Given the description of an element on the screen output the (x, y) to click on. 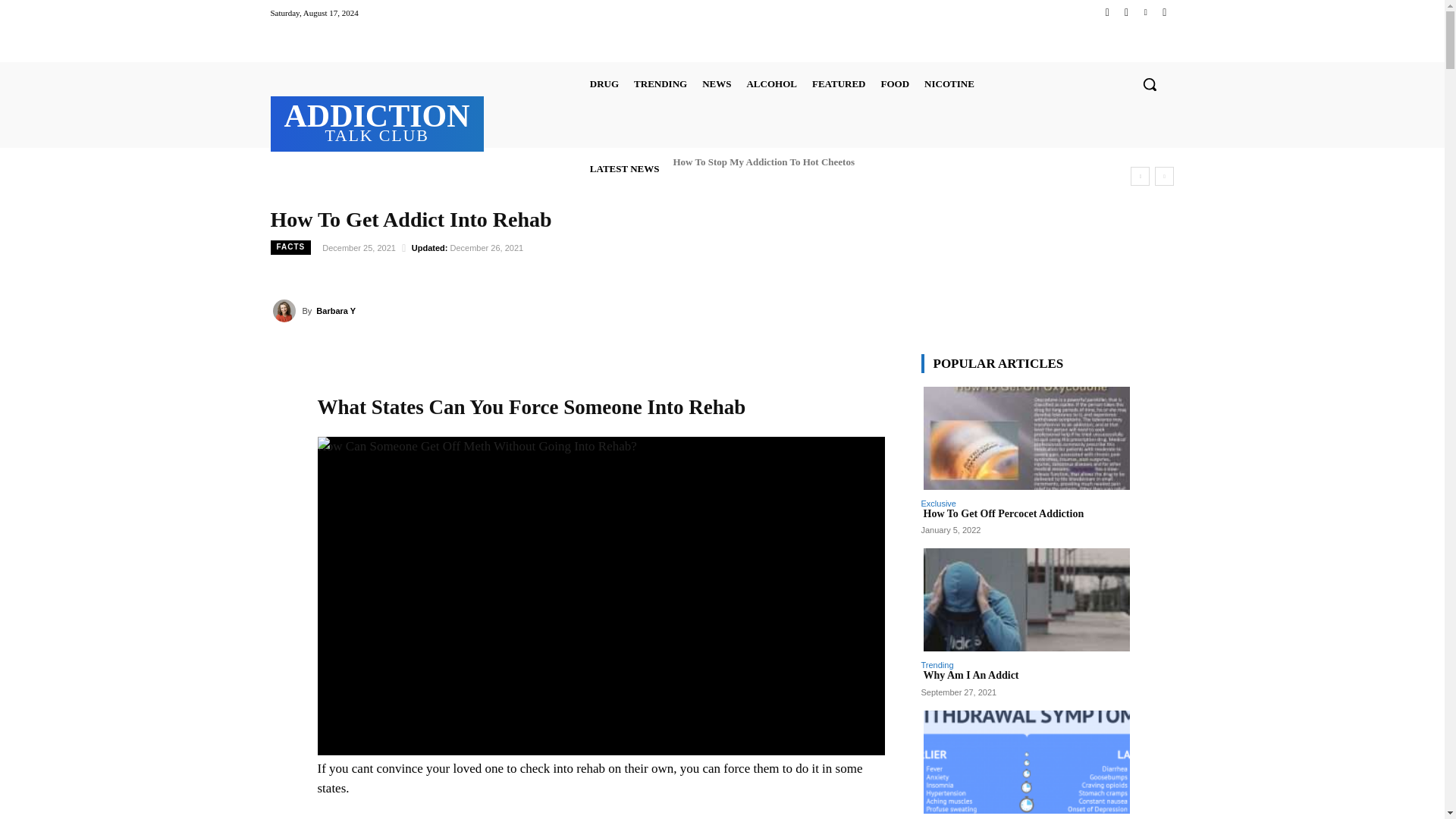
TRENDING (660, 83)
DRUG (603, 83)
Facebook (1106, 12)
